Given the description of an element on the screen output the (x, y) to click on. 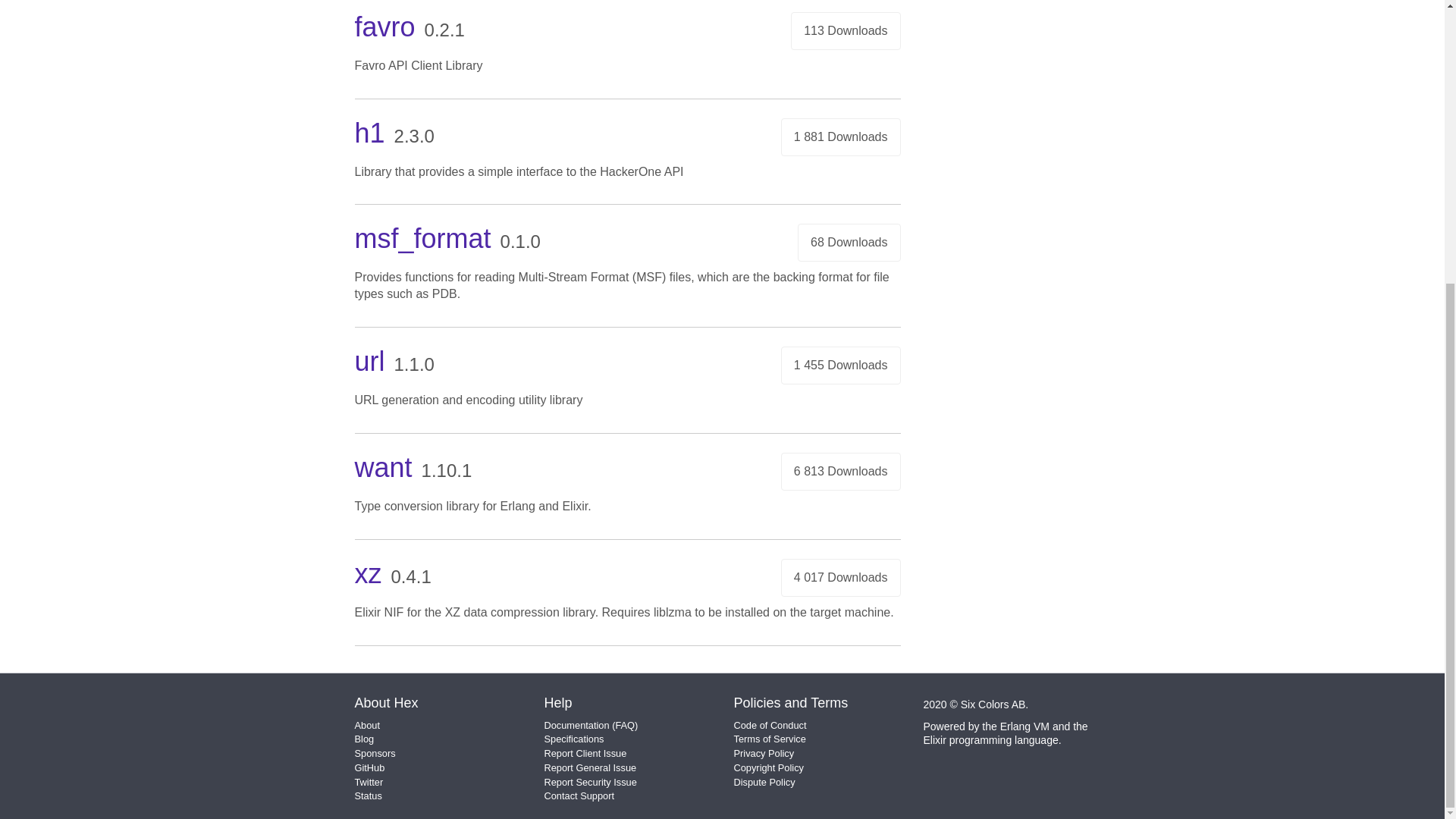
want (383, 467)
Sponsors (375, 753)
Twitter (369, 781)
Documentation (577, 725)
url (370, 360)
h1 (370, 132)
Erlang VM (1024, 726)
Report Security Issue (590, 781)
Privacy Policy (763, 753)
Code of Conduct (769, 725)
favro (384, 26)
FAQ (624, 725)
Dispute Policy (763, 781)
About (367, 725)
Elixir programming language (990, 739)
